Given the description of an element on the screen output the (x, y) to click on. 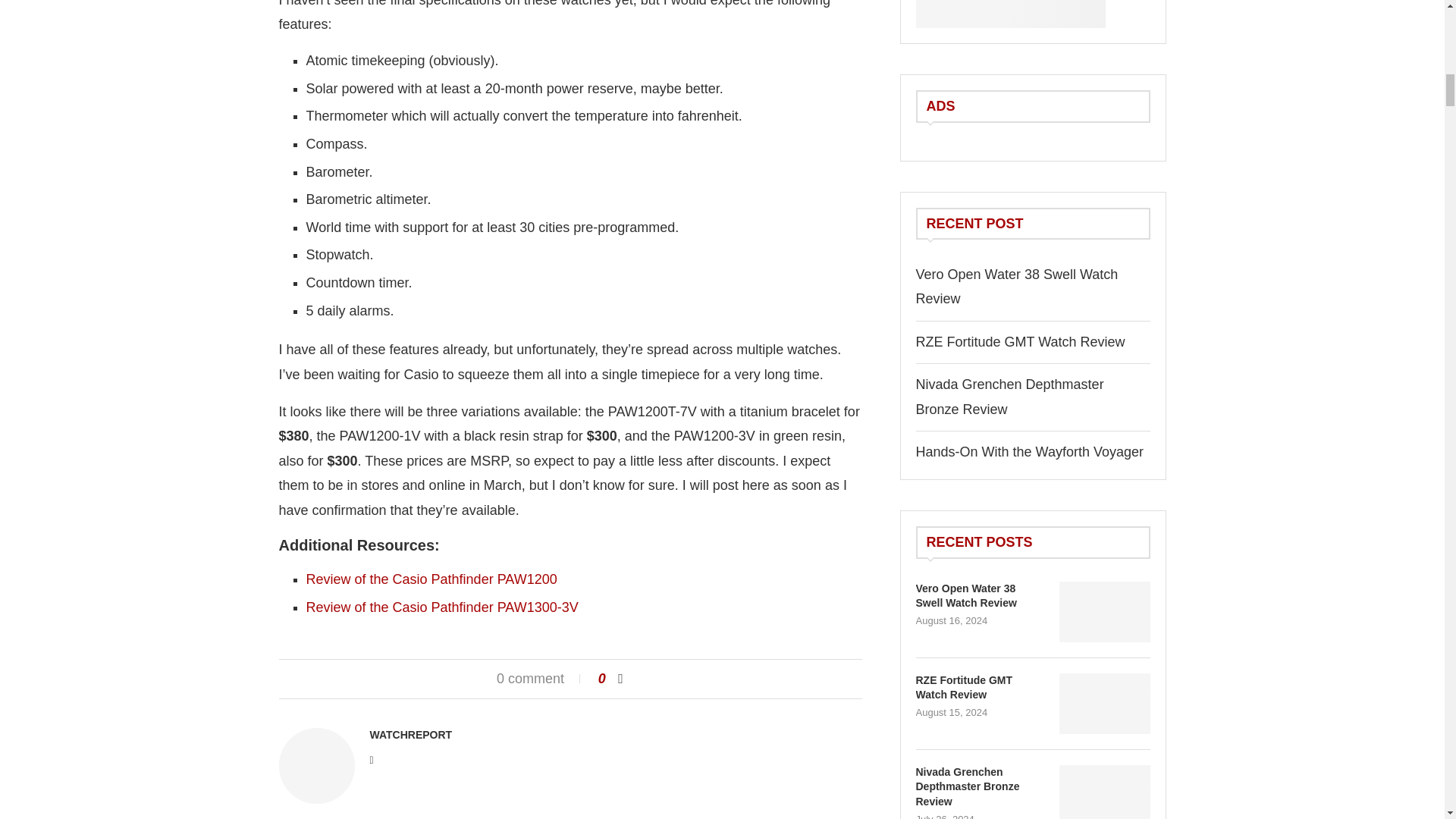
Author WatchReport (410, 735)
WATCHREPORT (410, 735)
Review of the Casio Pathfinder PAW1200 (431, 579)
Review of the Casio Pathfinder PAW1300-3V (441, 607)
